Given the description of an element on the screen output the (x, y) to click on. 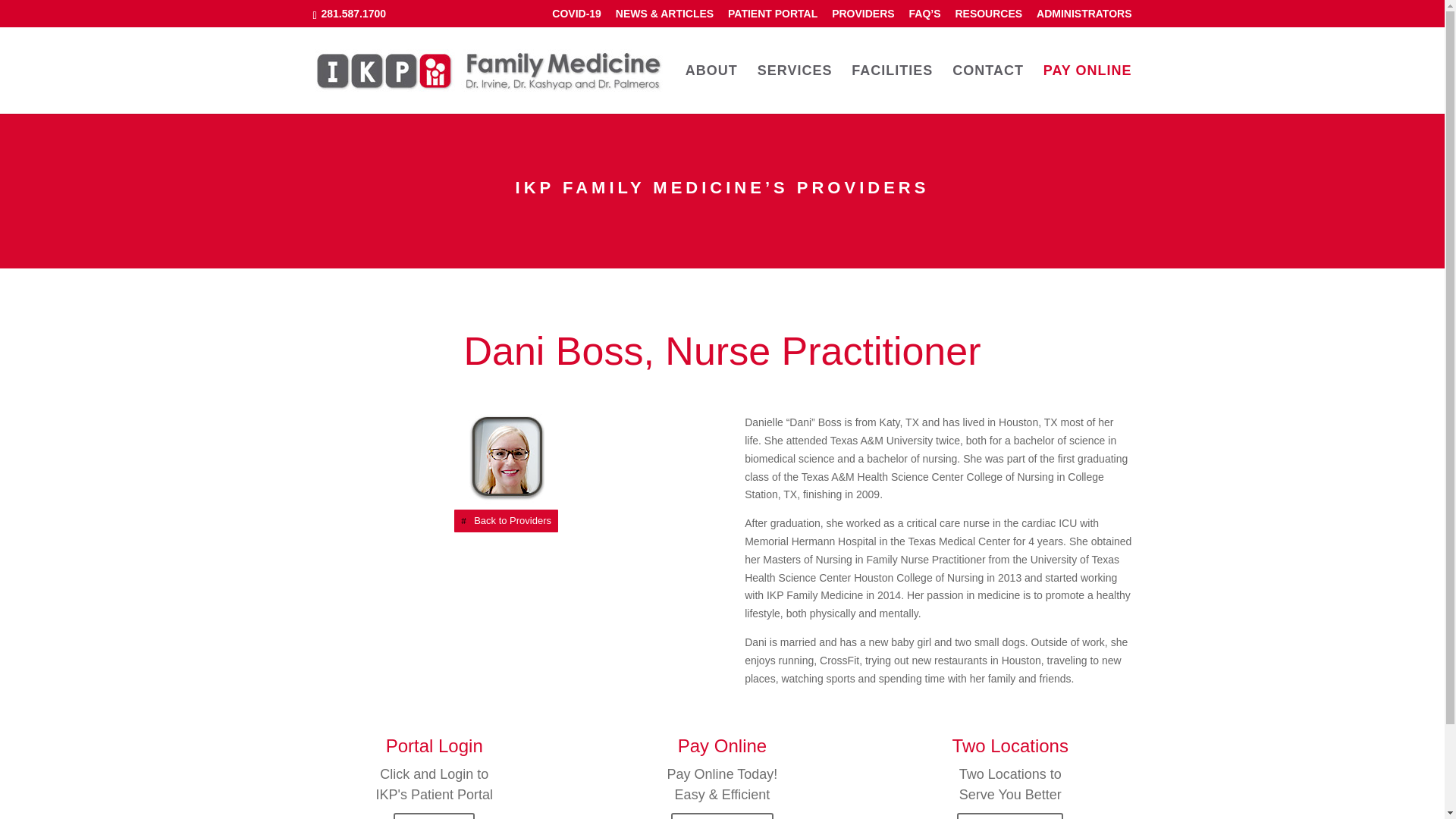
PAY NOW (724, 816)
LOGIN (439, 816)
COVID-19 (576, 16)
FACILITIES (892, 89)
PROVIDERS (862, 16)
Back to Providers (505, 520)
ADMINISTRATORS (1083, 16)
RESOURCES (988, 16)
SERVICES (794, 89)
CONTACT (1011, 816)
ABOUT (711, 89)
PATIENT PORTAL (772, 16)
PAY ONLINE (1087, 89)
CONTACT (987, 89)
